Given the description of an element on the screen output the (x, y) to click on. 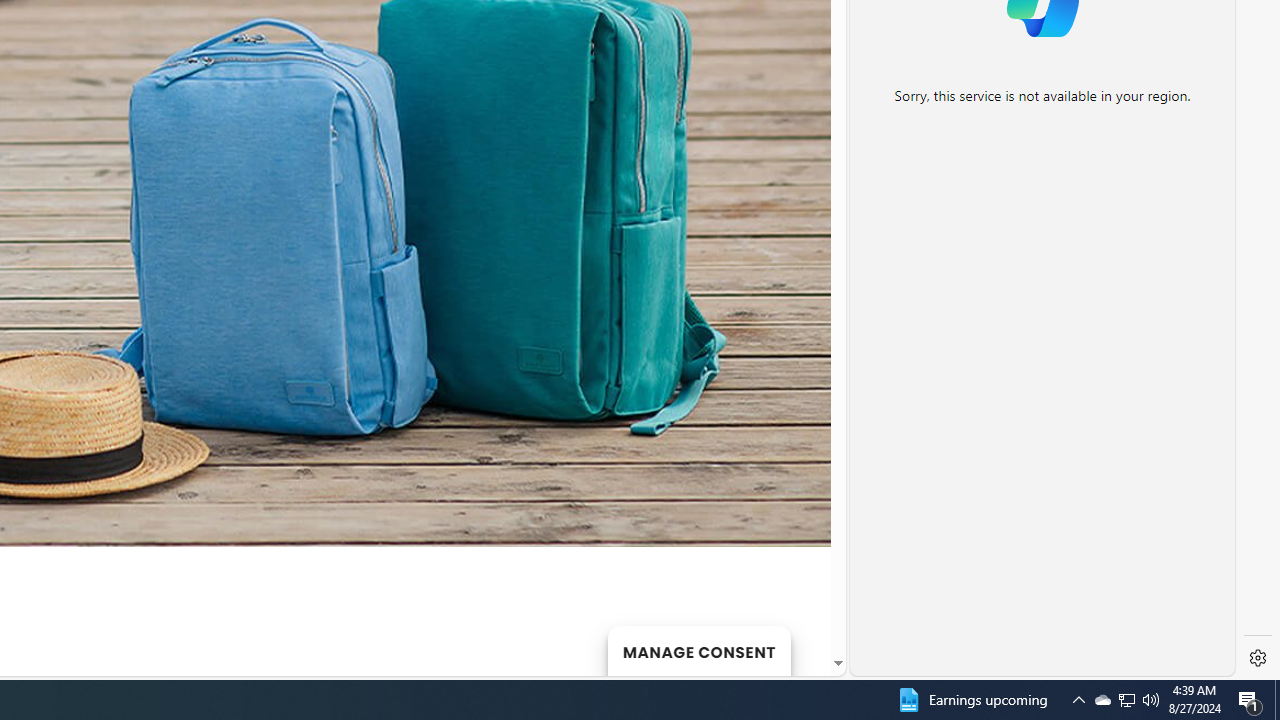
MANAGE CONSENT (698, 650)
